Given the description of an element on the screen output the (x, y) to click on. 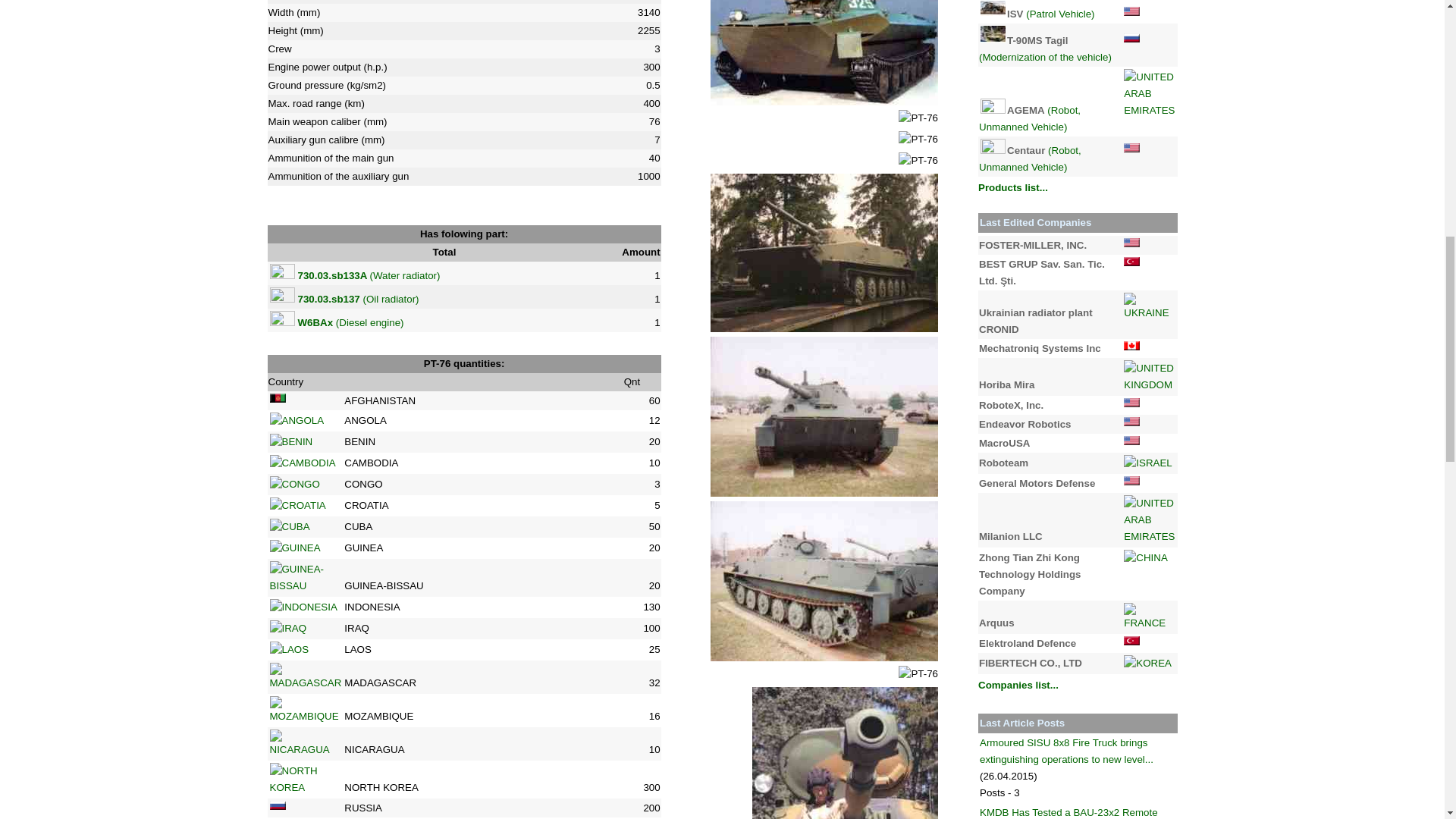
NORTH KOREA (305, 779)
CAMBODIA (302, 463)
ANGOLA (296, 420)
LAOS (288, 649)
GUINEA (294, 547)
MADAGASCAR (305, 676)
CROATIA (297, 505)
730.03.sb133A (333, 275)
BENIN (291, 442)
INDONESIA (303, 606)
AFGHANISTAN (277, 397)
GUINEA-BISSAU (305, 577)
NICARAGUA (305, 743)
CUBA (289, 526)
CONGO (294, 484)
